Given the description of an element on the screen output the (x, y) to click on. 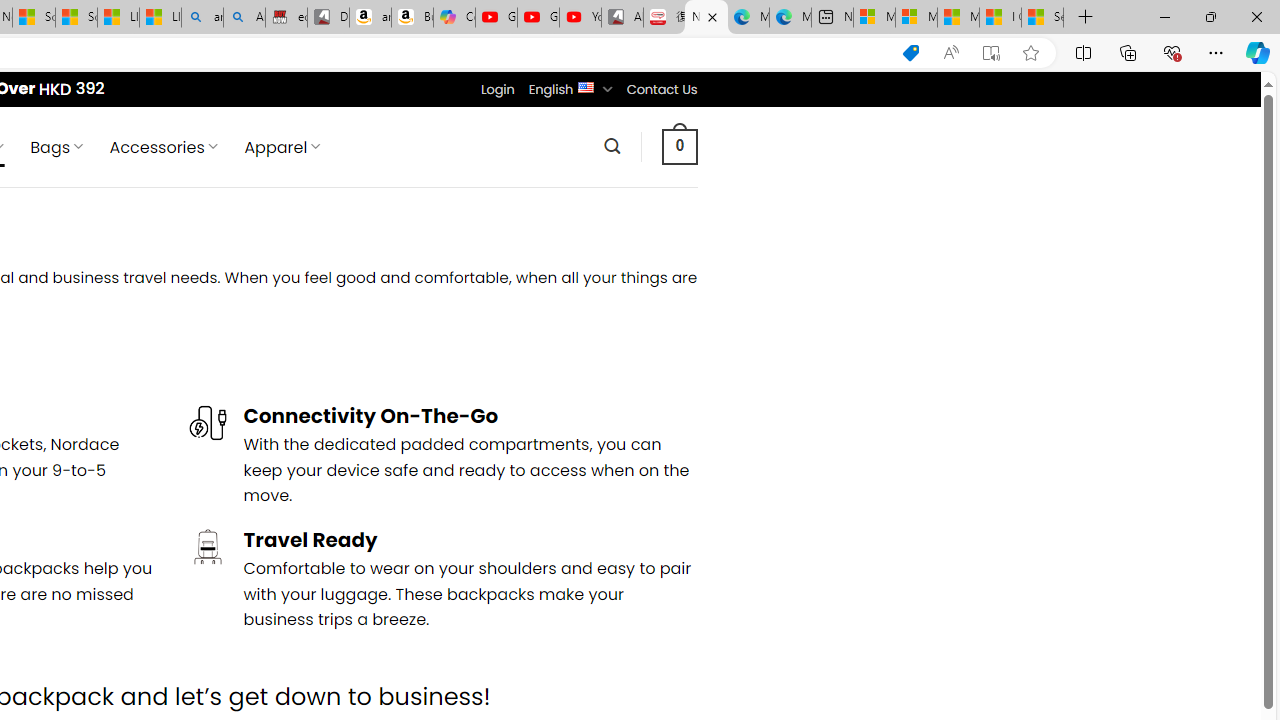
This site has coupons! Shopping in Microsoft Edge (910, 53)
